Given the description of an element on the screen output the (x, y) to click on. 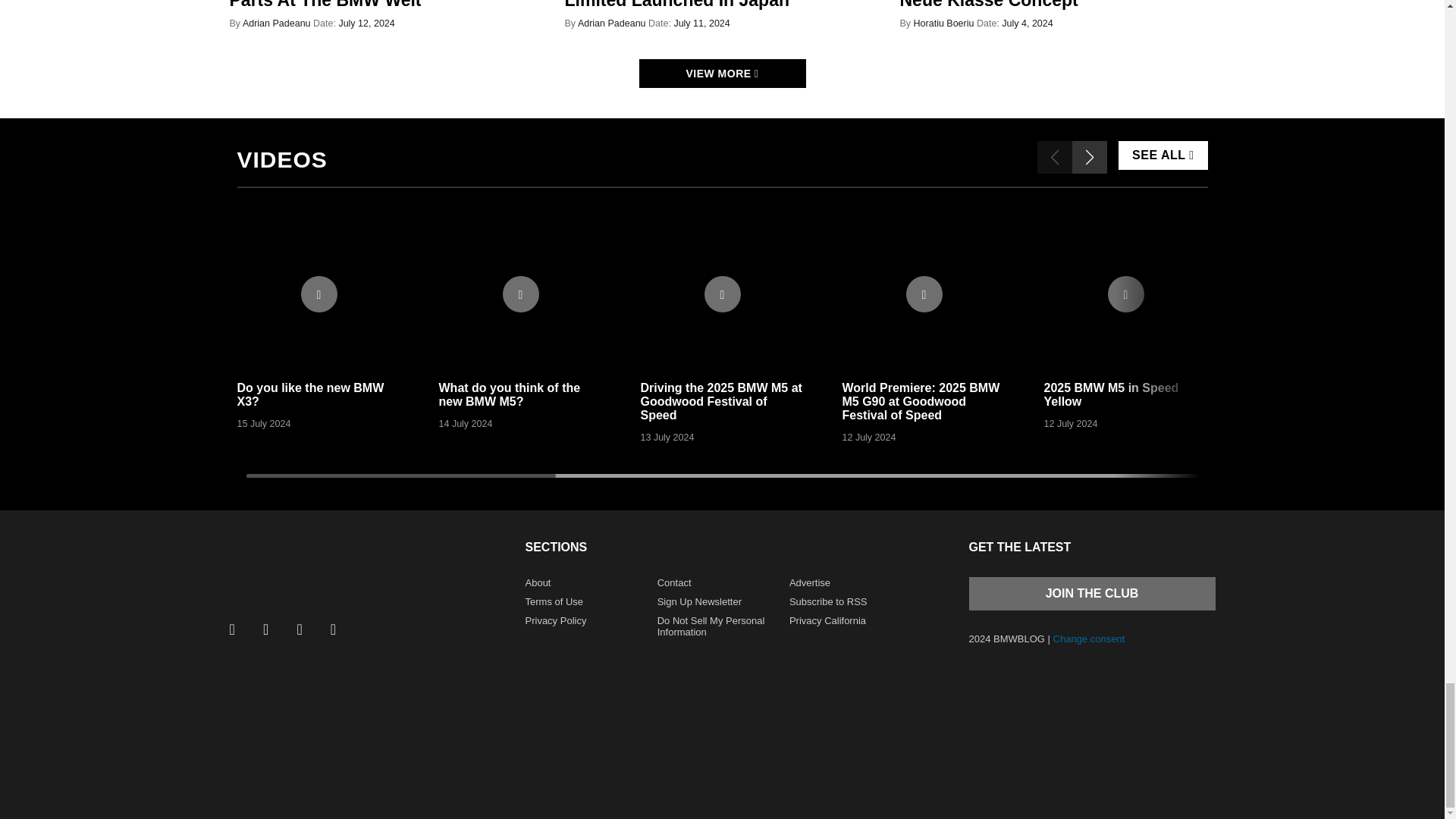
Join the club (1092, 593)
